Given the description of an element on the screen output the (x, y) to click on. 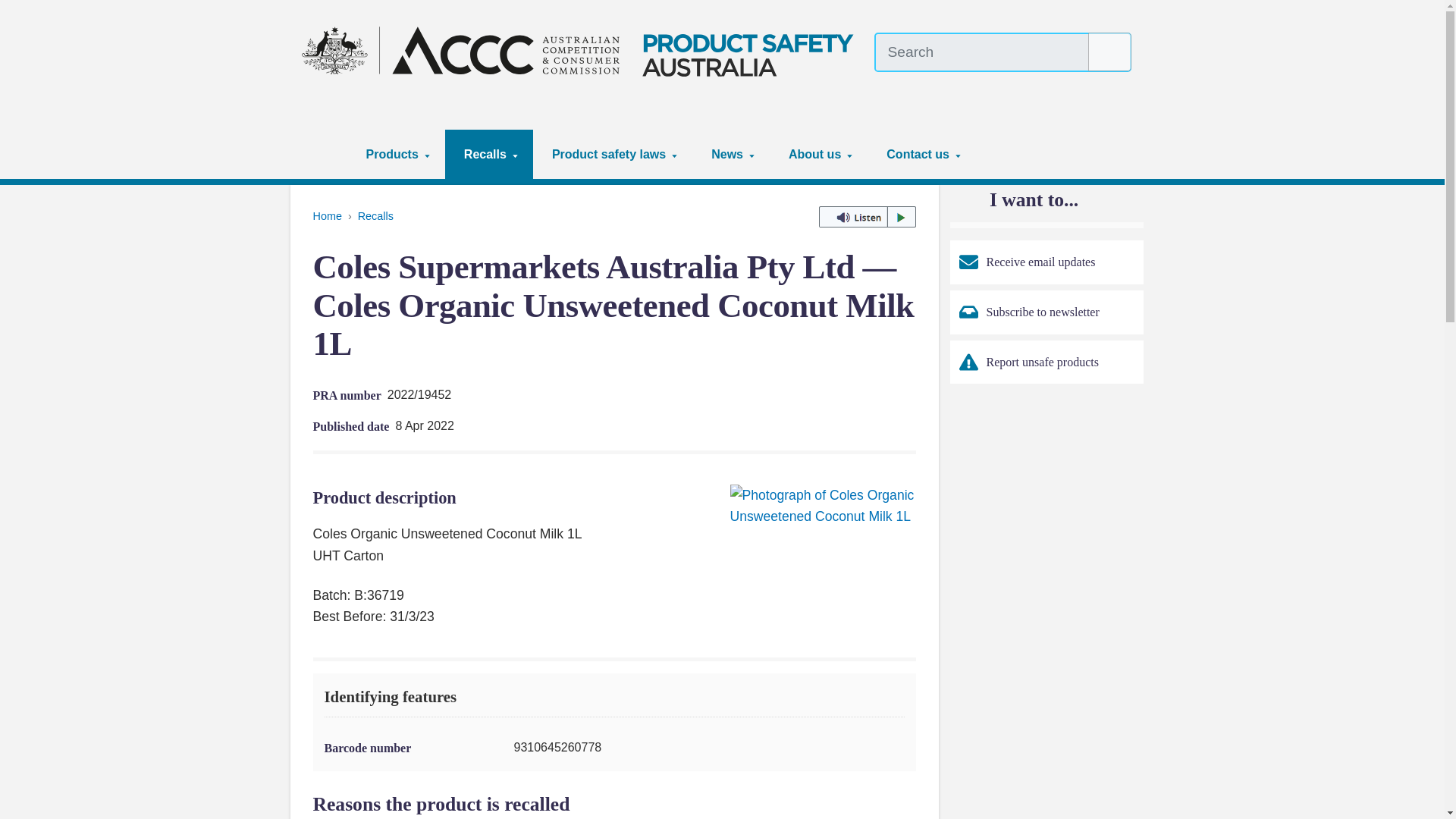
About website translation (1123, 87)
Listen to this page using ReadSpeaker (866, 216)
Product Safety Australia home (582, 49)
Products (396, 154)
Home (324, 154)
Search (1109, 51)
